Given the description of an element on the screen output the (x, y) to click on. 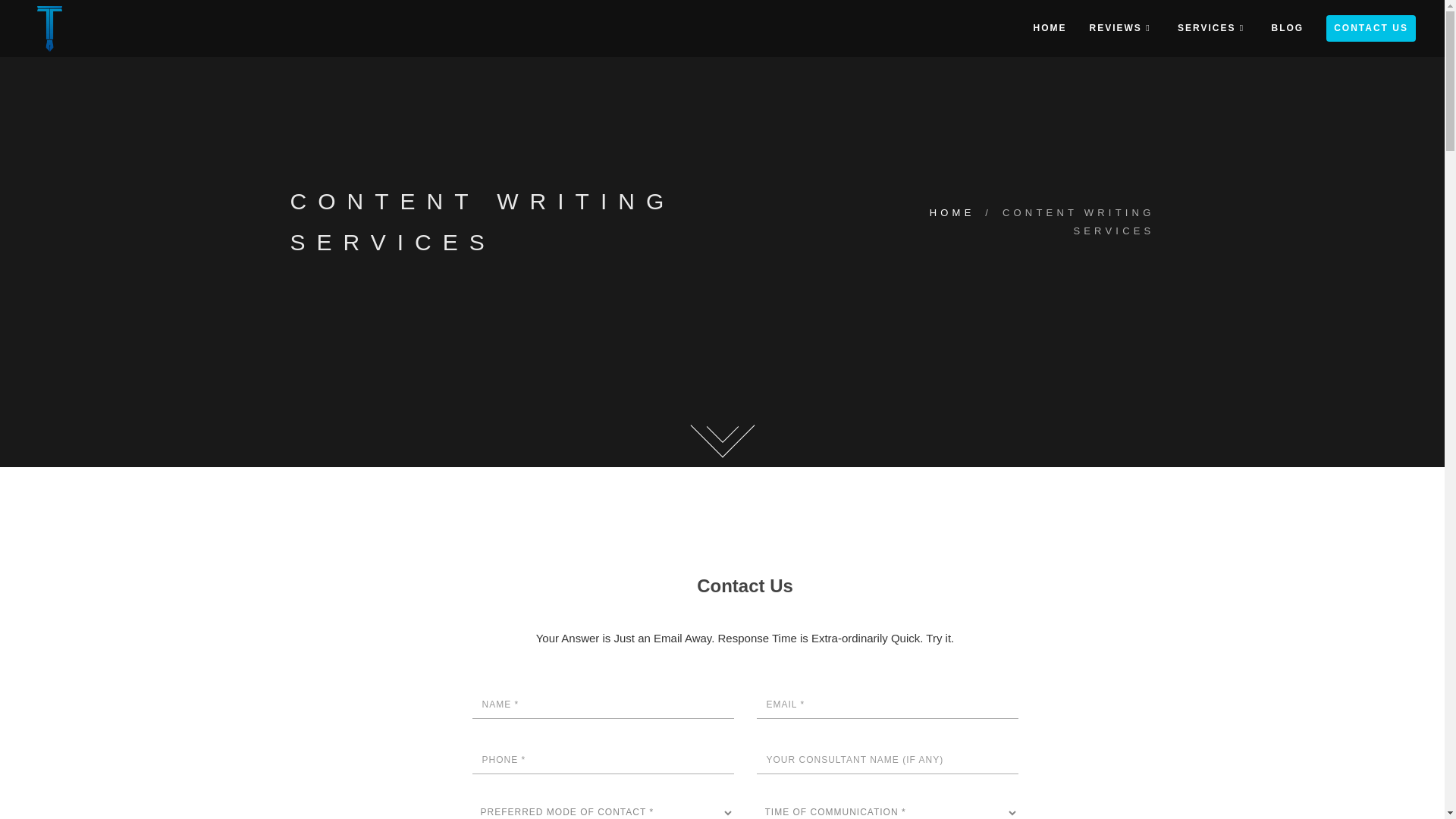
CONTACT US (1370, 28)
REVIEWS (1120, 28)
 SERVICES (1208, 28)
Services (1208, 28)
Reviews (1212, 28)
HOME (1120, 28)
